Given the description of an element on the screen output the (x, y) to click on. 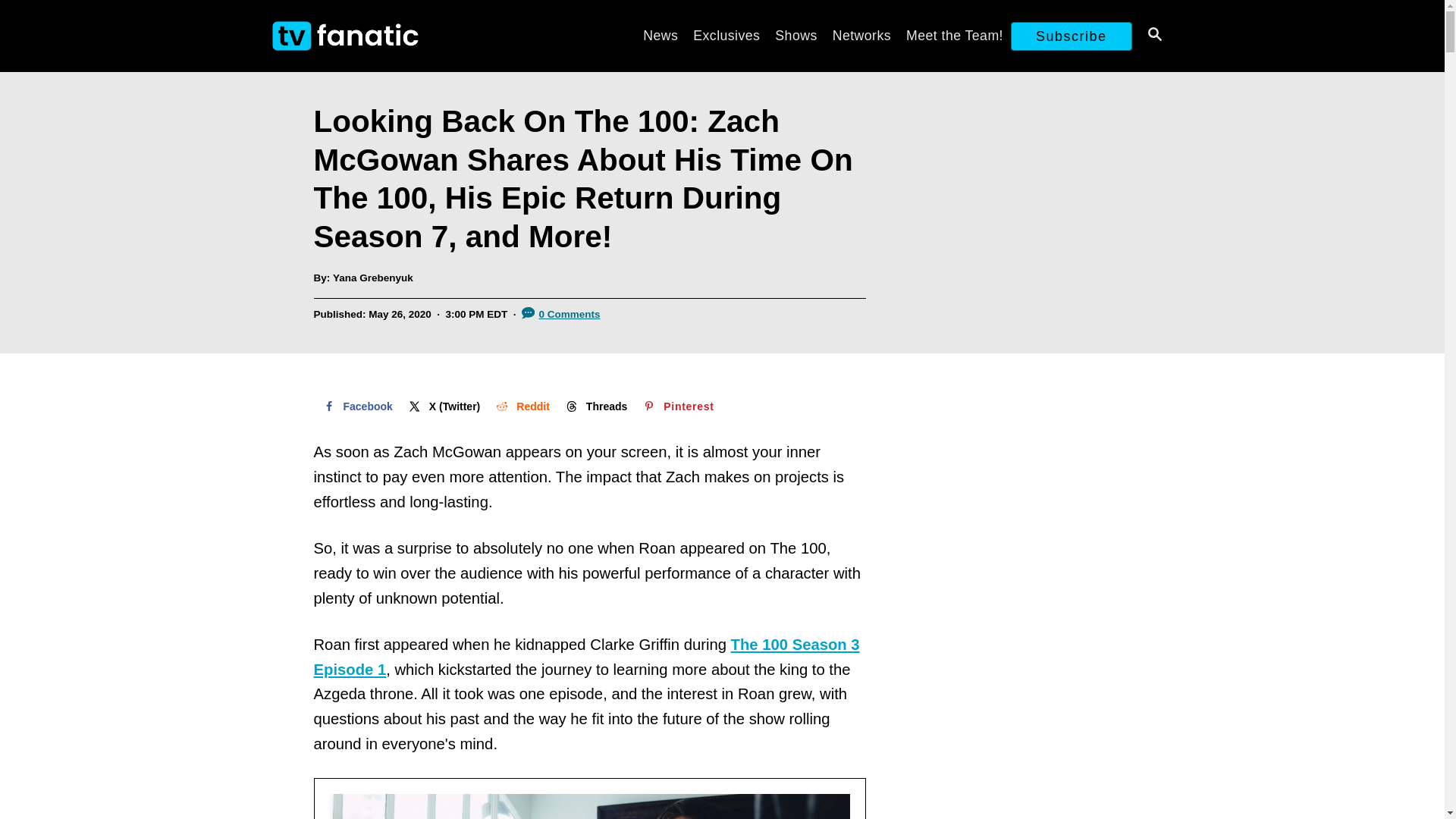
Shows (795, 35)
News (659, 35)
TV Fanatic (403, 36)
Exclusives (726, 35)
SEARCH (1153, 35)
Share on Facebook (356, 406)
Share on Reddit (521, 406)
Save to Pinterest (676, 406)
Networks (861, 35)
Share on Threads (594, 406)
Share on X (442, 406)
